Given the description of an element on the screen output the (x, y) to click on. 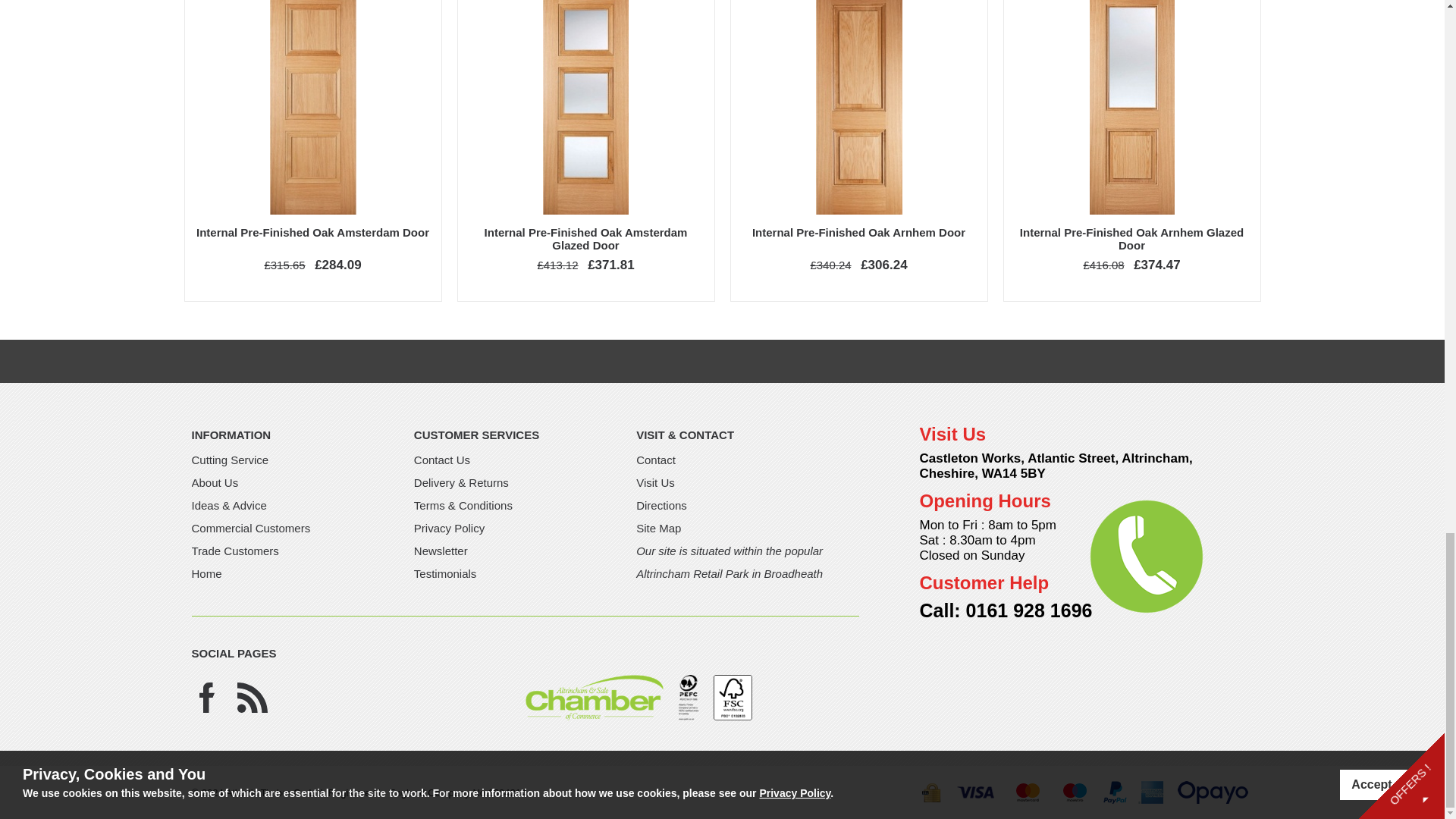
Internal Pre-Finished Oak Amsterdam Glazed Door (585, 238)
Newsletter (440, 550)
About Us (214, 481)
Internal Pre-Finished Oak Amsterdam Door (312, 232)
Cutting Service (228, 459)
Privacy Policy (448, 527)
Commercial Customers (250, 527)
Home (205, 573)
Trade Customers (234, 550)
Contact Us (441, 459)
